Given the description of an element on the screen output the (x, y) to click on. 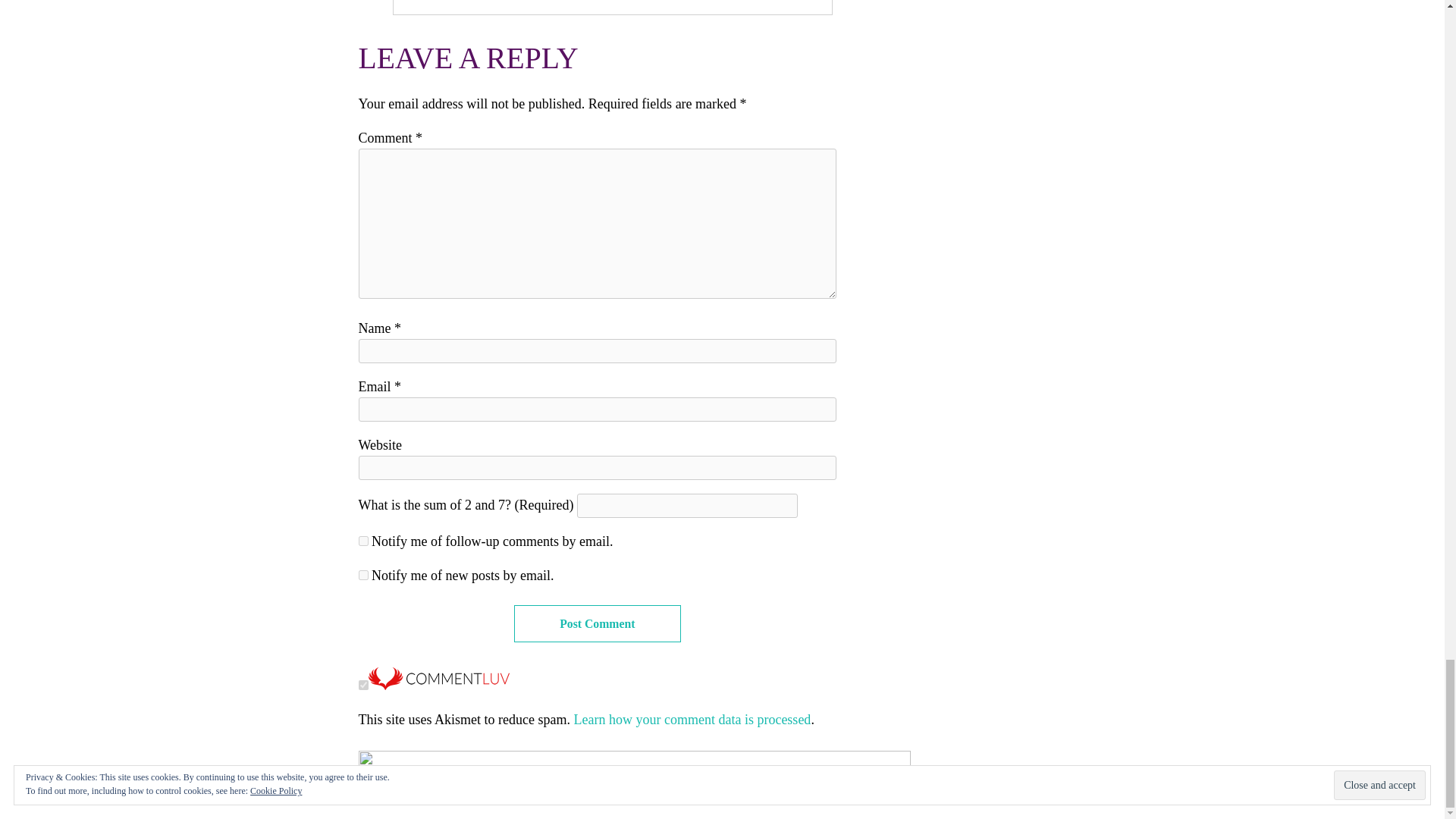
subscribe (363, 574)
on (363, 685)
Post Comment (597, 623)
subscribe (363, 541)
